Given the description of an element on the screen output the (x, y) to click on. 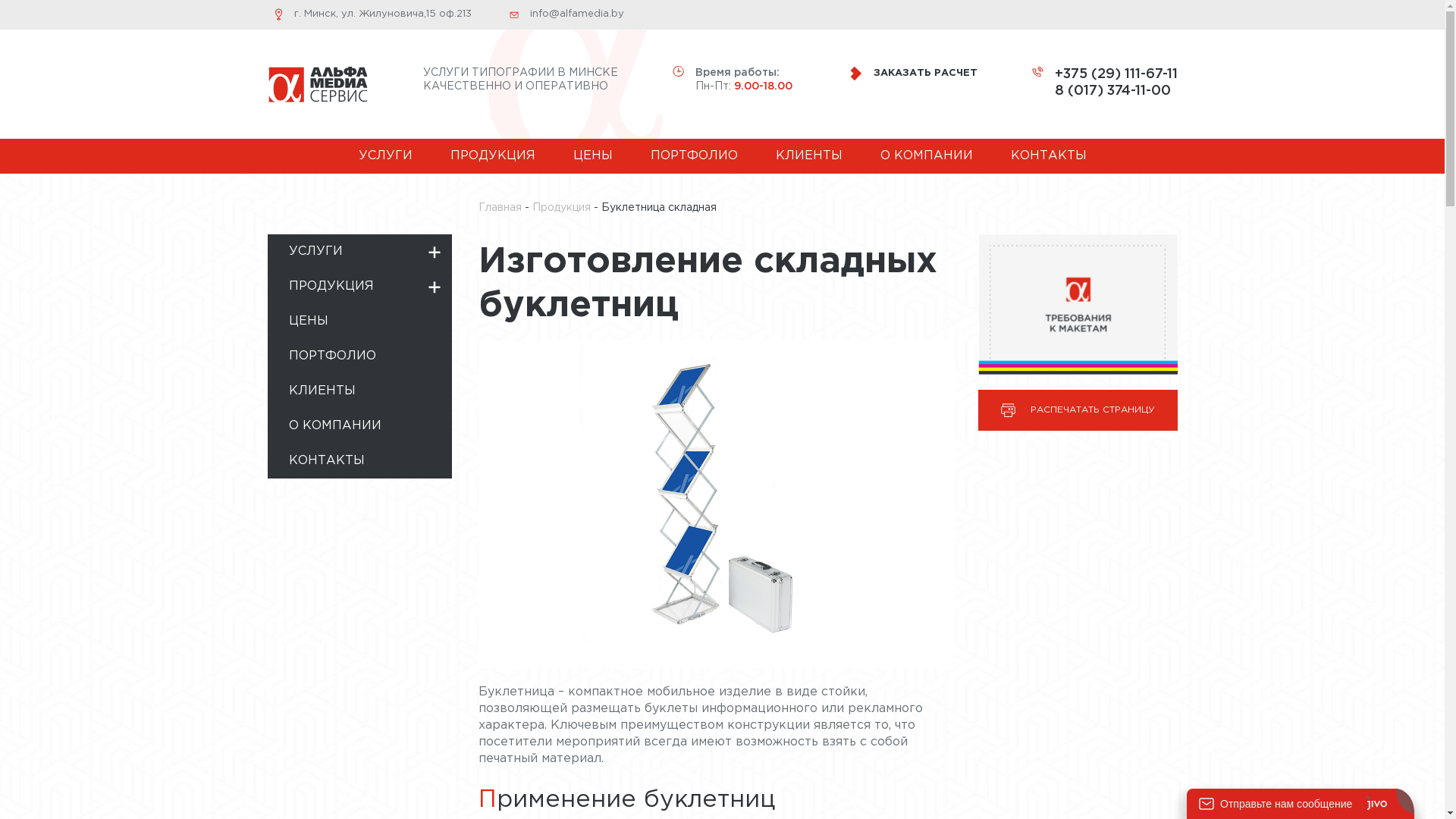
8 (017) 374-11-00 Element type: text (1115, 90)
+375 (29) 111-67-11 Element type: text (1115, 73)
